Given the description of an element on the screen output the (x, y) to click on. 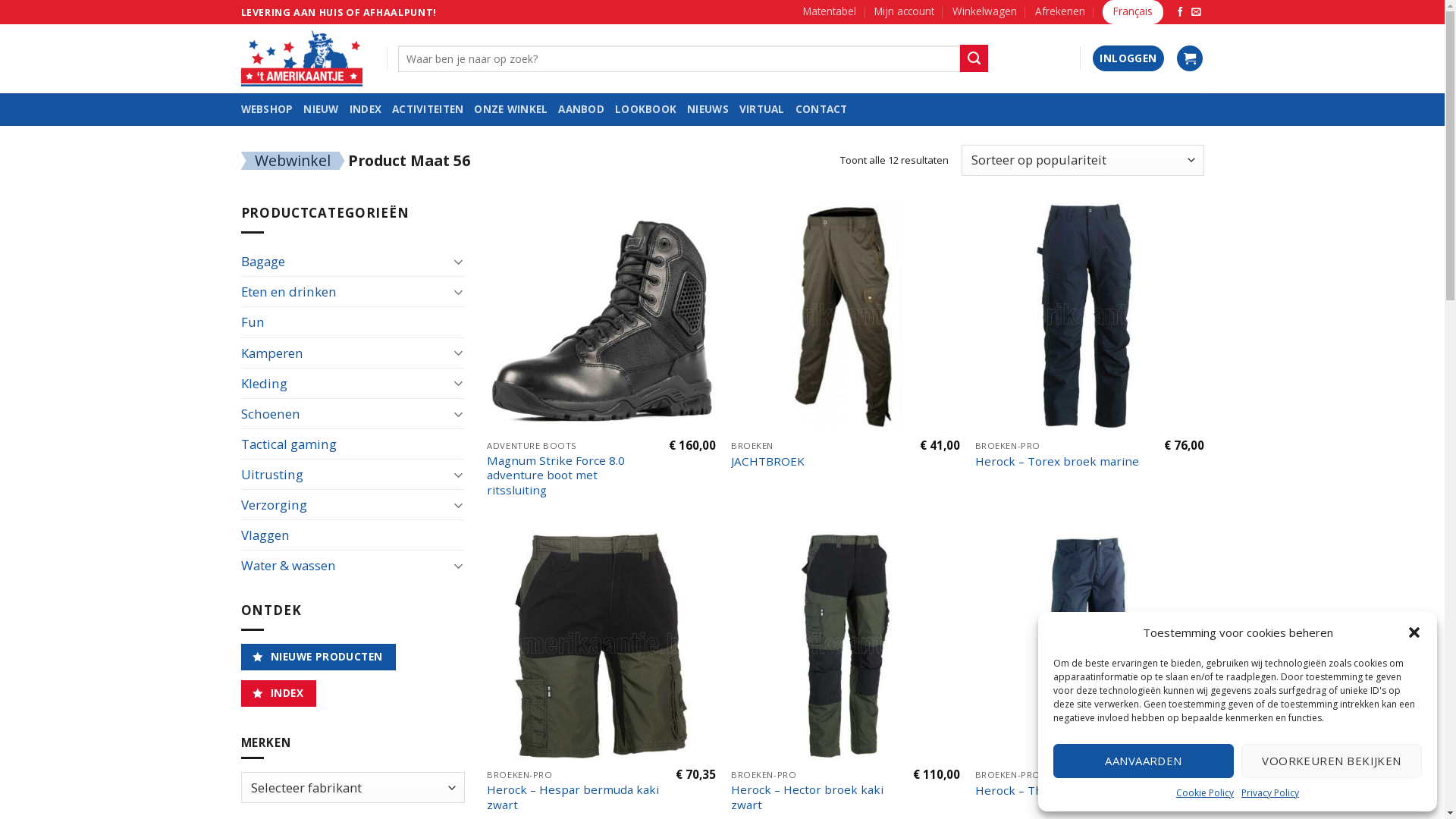
JACHTBROEK Element type: text (767, 461)
Magnum Strike Force 8.0 adventure boot met ritssluiting Element type: text (571, 475)
INDEX Element type: text (278, 693)
INLOGGEN Element type: text (1127, 58)
Privacy Policy Element type: text (1270, 792)
Mijn account Element type: text (904, 12)
Uitrusting Element type: text (344, 474)
Winkelwagen Element type: text (984, 12)
Tactical gaming Element type: text (352, 443)
Eten en drinken Element type: text (344, 291)
NIEUW Element type: text (320, 108)
Bagage Element type: text (344, 261)
Webwinkel Element type: text (292, 160)
Fun Element type: text (352, 321)
Like ons op Facebook Element type: hover (1180, 12)
Winkelwagen Element type: hover (1189, 58)
CONTACT Element type: text (821, 108)
Schoenen Element type: text (344, 413)
Verzorging Element type: text (344, 504)
Zoeken Element type: text (973, 58)
VIRTUAL Element type: text (761, 108)
Kleding Element type: text (344, 383)
NIEUWE PRODUCTEN Element type: text (318, 656)
Afrekenen Element type: text (1060, 12)
NIEUWS Element type: text (707, 108)
INDEX Element type: text (365, 108)
ACTIVITEITEN Element type: text (427, 108)
Vlaggen Element type: text (352, 534)
AANVAARDEN Element type: text (1143, 760)
AANBOD Element type: text (581, 108)
LOOKBOOK Element type: text (645, 108)
WEBSHOP Element type: text (267, 108)
Matentabel Element type: text (829, 12)
VOORKEUREN BEKIJKEN Element type: text (1331, 760)
Stuur ons een e-mail Element type: hover (1196, 12)
Cookie Policy Element type: text (1204, 792)
ONZE WINKEL Element type: text (510, 108)
Water & wassen Element type: text (344, 565)
Kamperen Element type: text (344, 352)
